Given the description of an element on the screen output the (x, y) to click on. 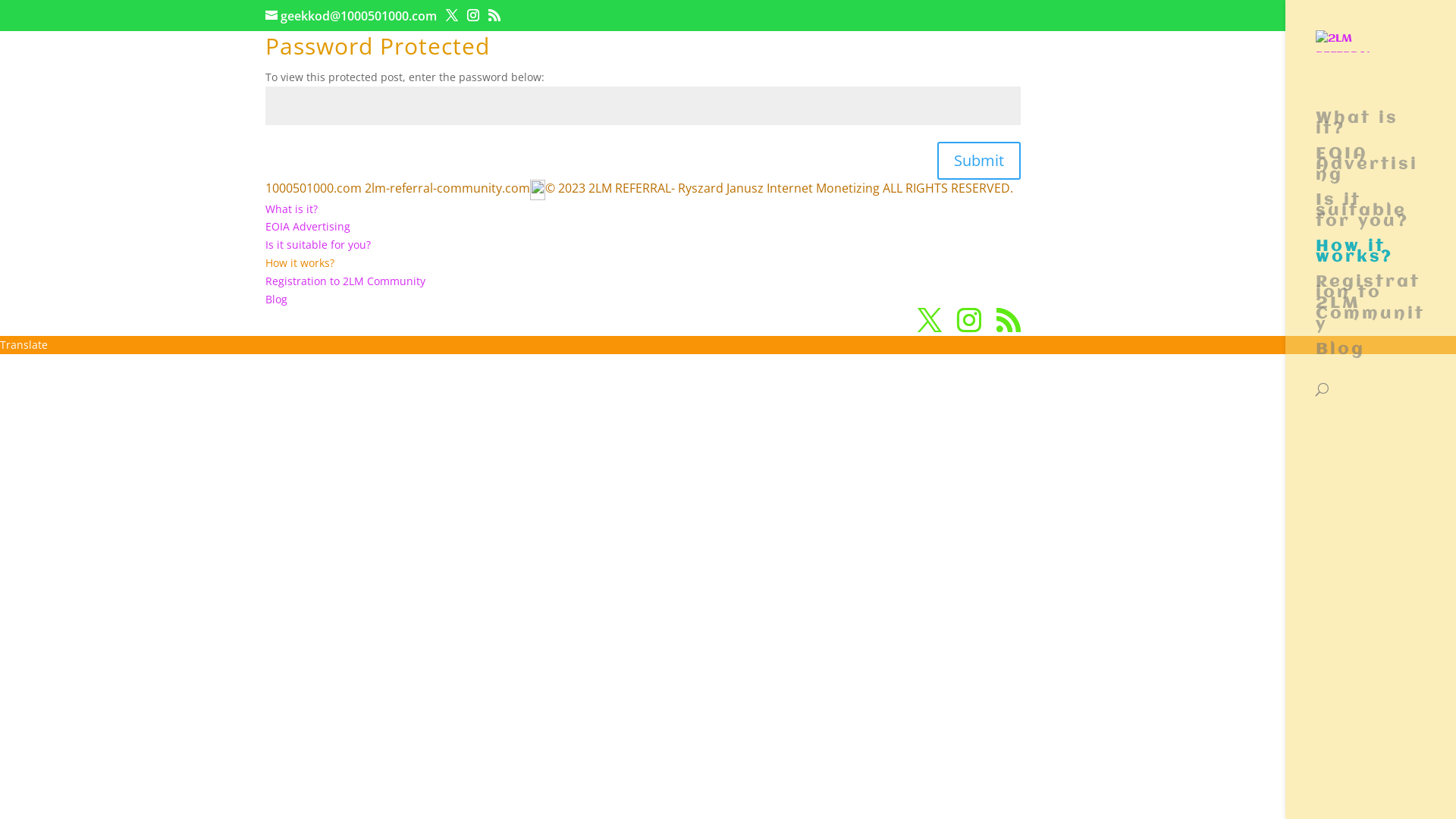
Blog Element type: text (276, 298)
Registration to 2LM Community Element type: text (345, 280)
Is it suitable for you? Element type: text (317, 244)
Submit Element type: text (978, 160)
geekkod@1000501000.com Element type: text (350, 15)
EOIA Advertising Element type: text (307, 226)
How it works? Element type: text (299, 262)
What is it? Element type: text (291, 208)
